Given the description of an element on the screen output the (x, y) to click on. 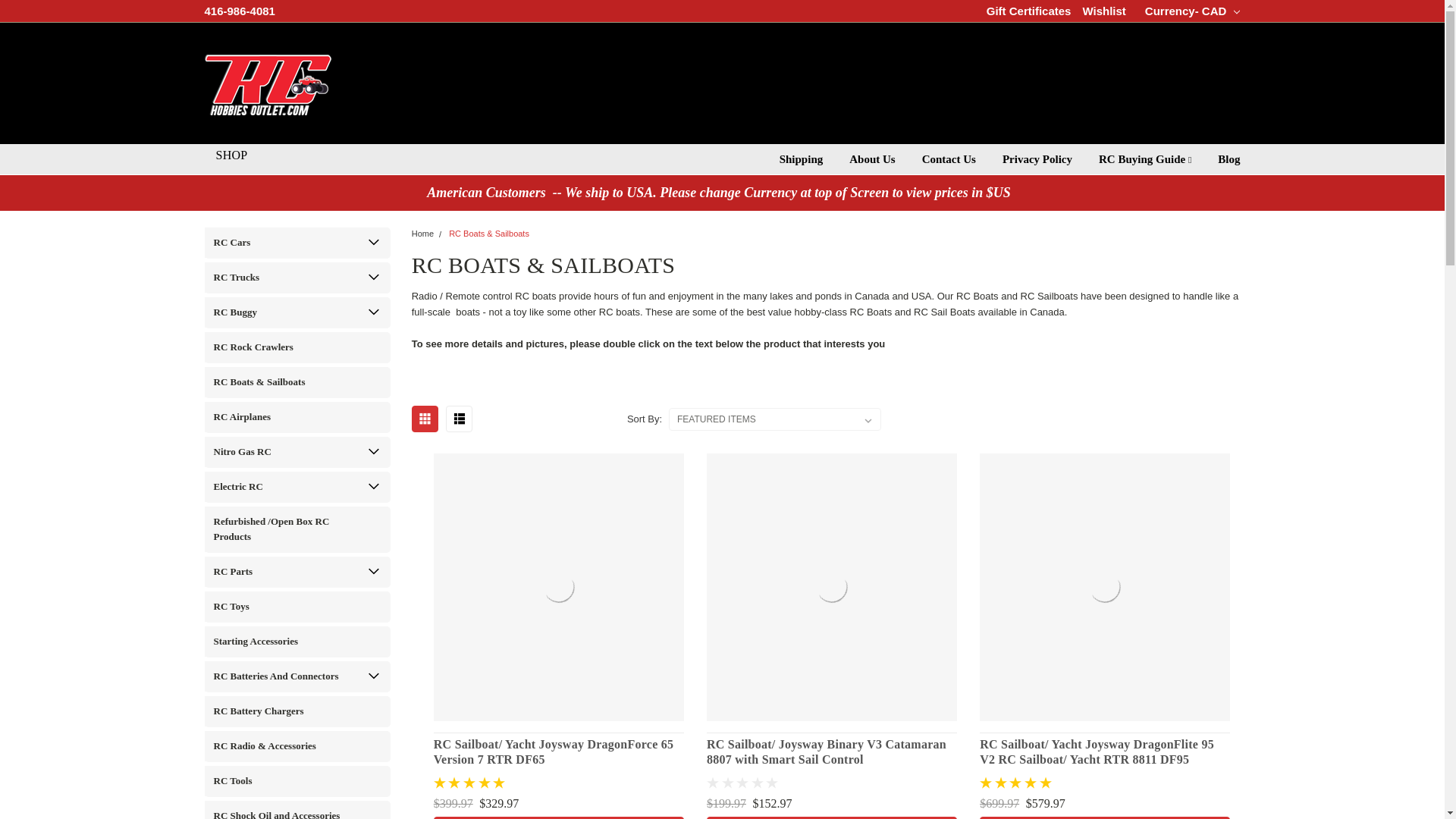
Gift Certificates (1029, 10)
Currency- CAD (1188, 11)
rchobbiesoutlet (268, 83)
Wishlist (1103, 10)
416-986-4081 (240, 10)
DragonFlite 95  (1105, 587)
